Given the description of an element on the screen output the (x, y) to click on. 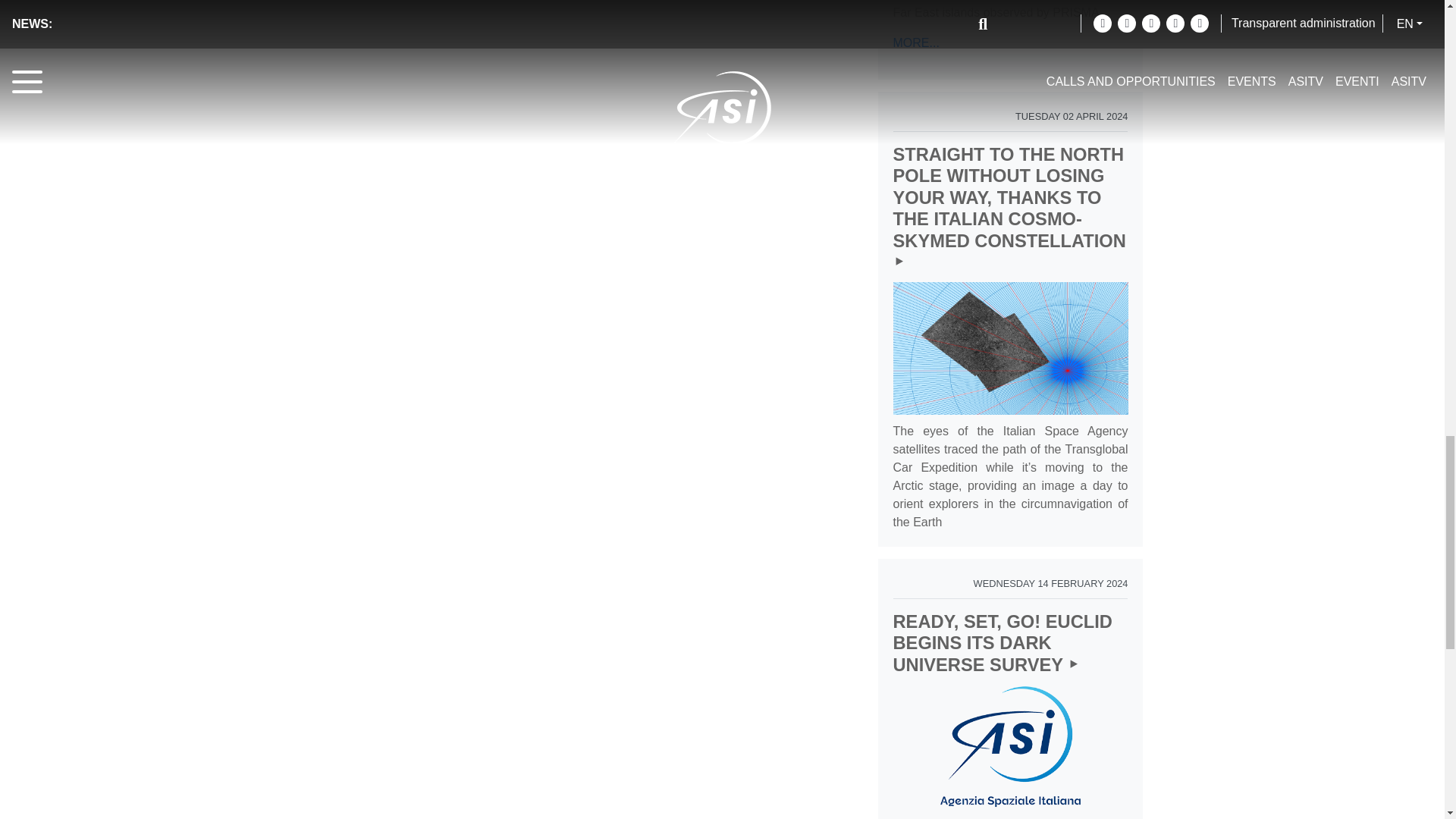
ASI - Agenzia Spaziale Italiana (1010, 746)
